Given the description of an element on the screen output the (x, y) to click on. 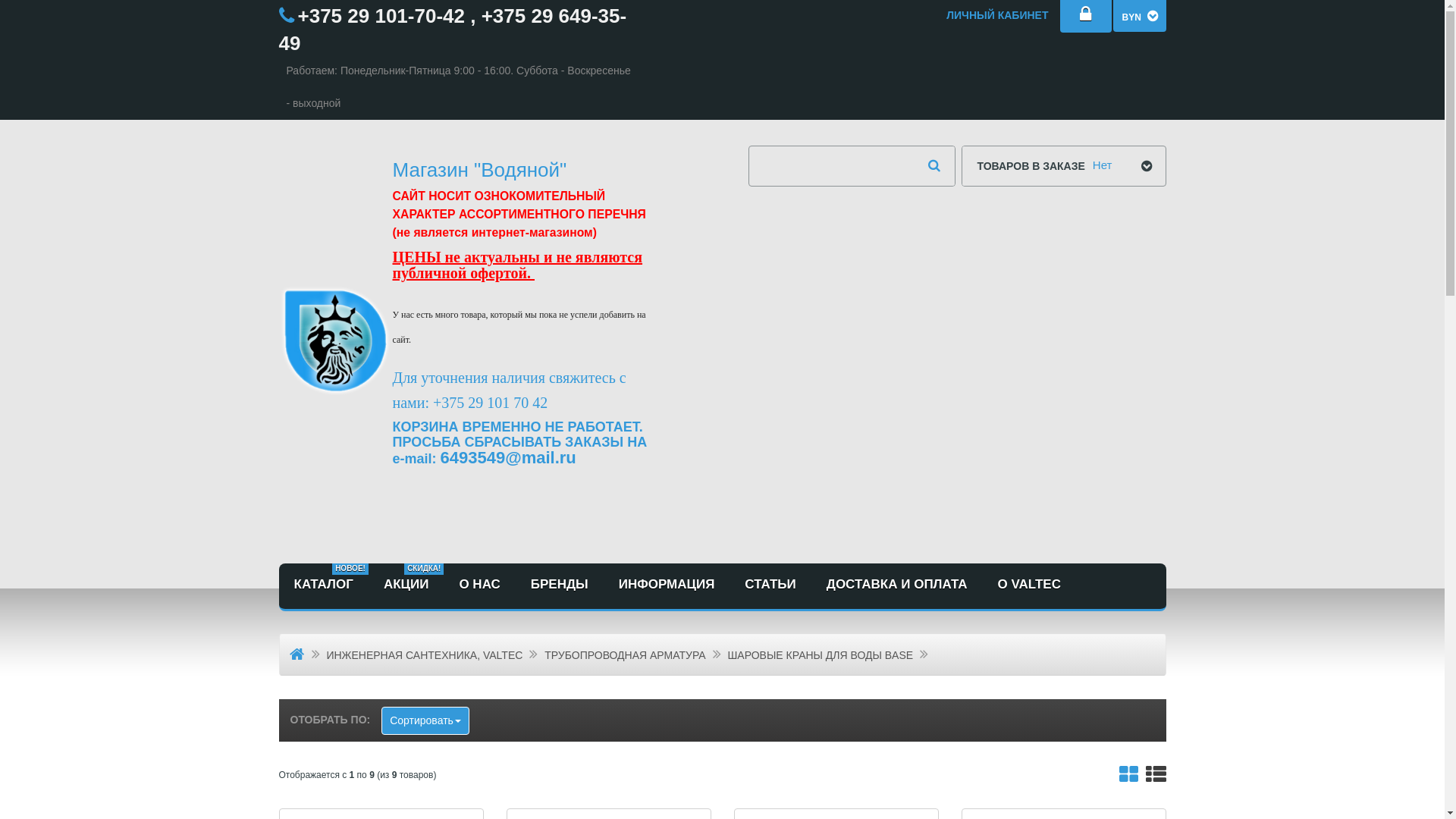
Grid Element type: hover (1128, 777)
List Element type: hover (1155, 777)
O VALTEC Element type: text (1029, 585)
